Given the description of an element on the screen output the (x, y) to click on. 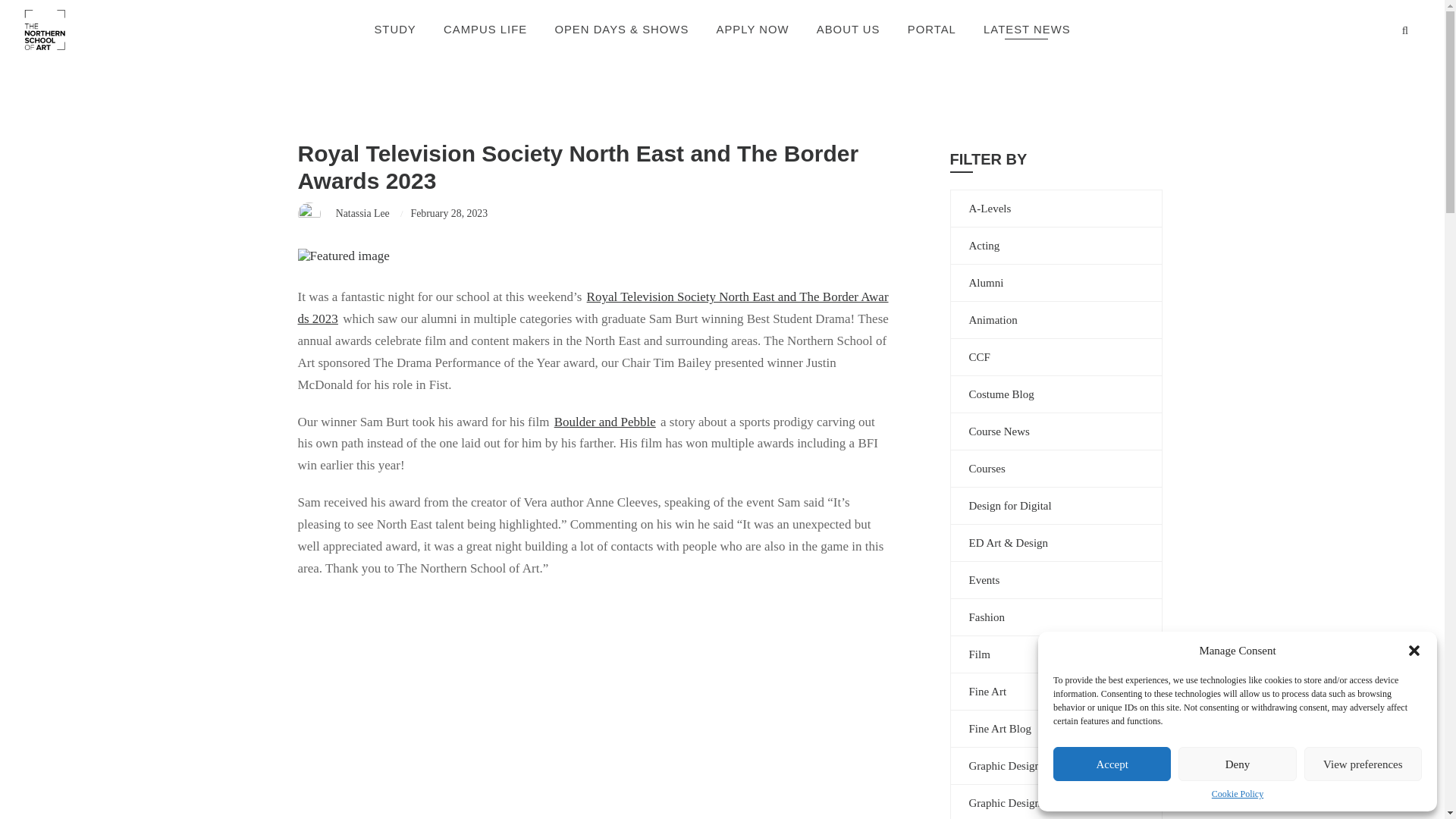
CAMPUS LIFE (485, 29)
Cookie Policy (1237, 794)
STUDY (394, 29)
Accept (1111, 763)
Deny (1236, 763)
View preferences (1363, 763)
